Given the description of an element on the screen output the (x, y) to click on. 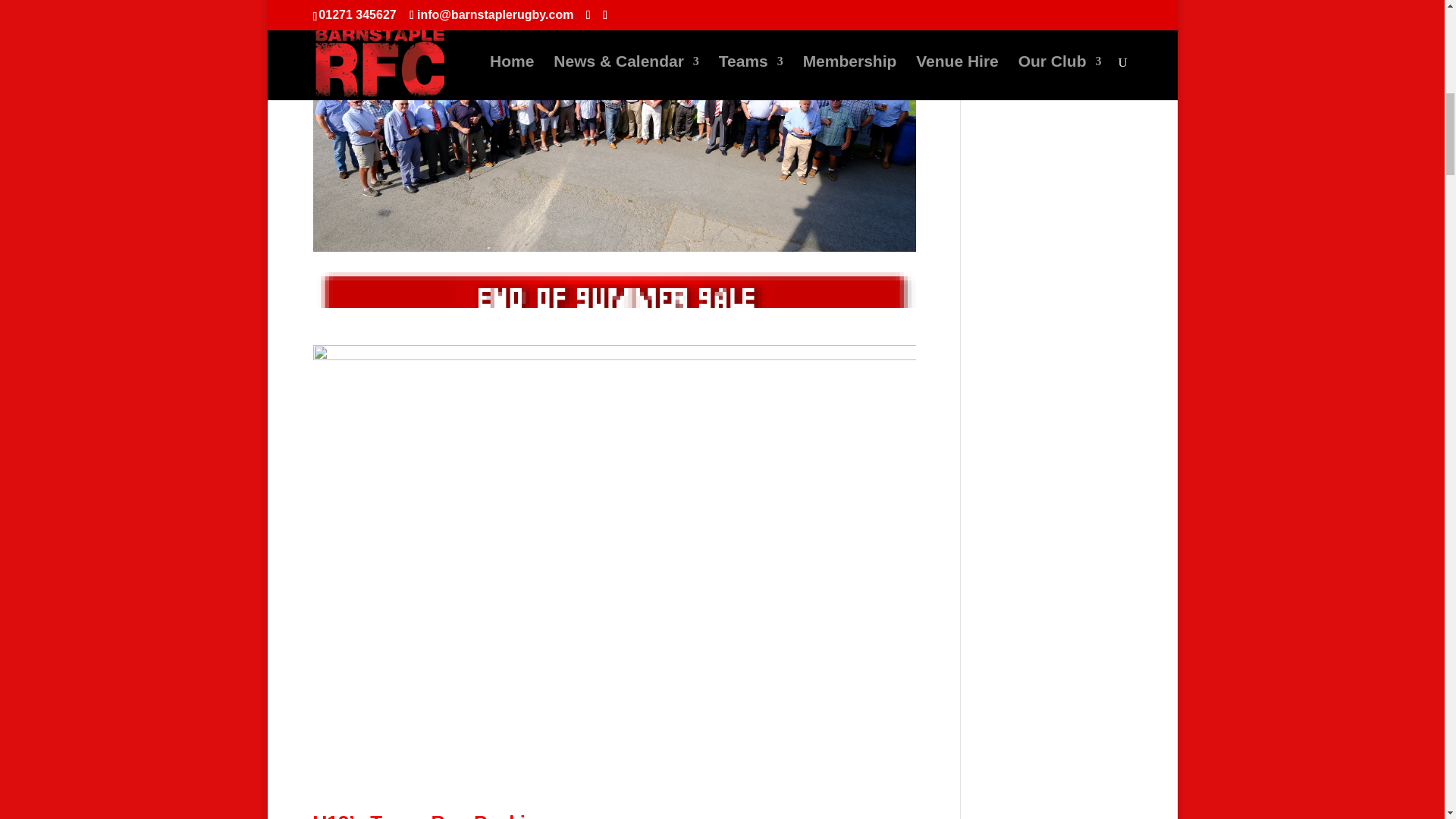
Picture4 (614, 298)
